Given the description of an element on the screen output the (x, y) to click on. 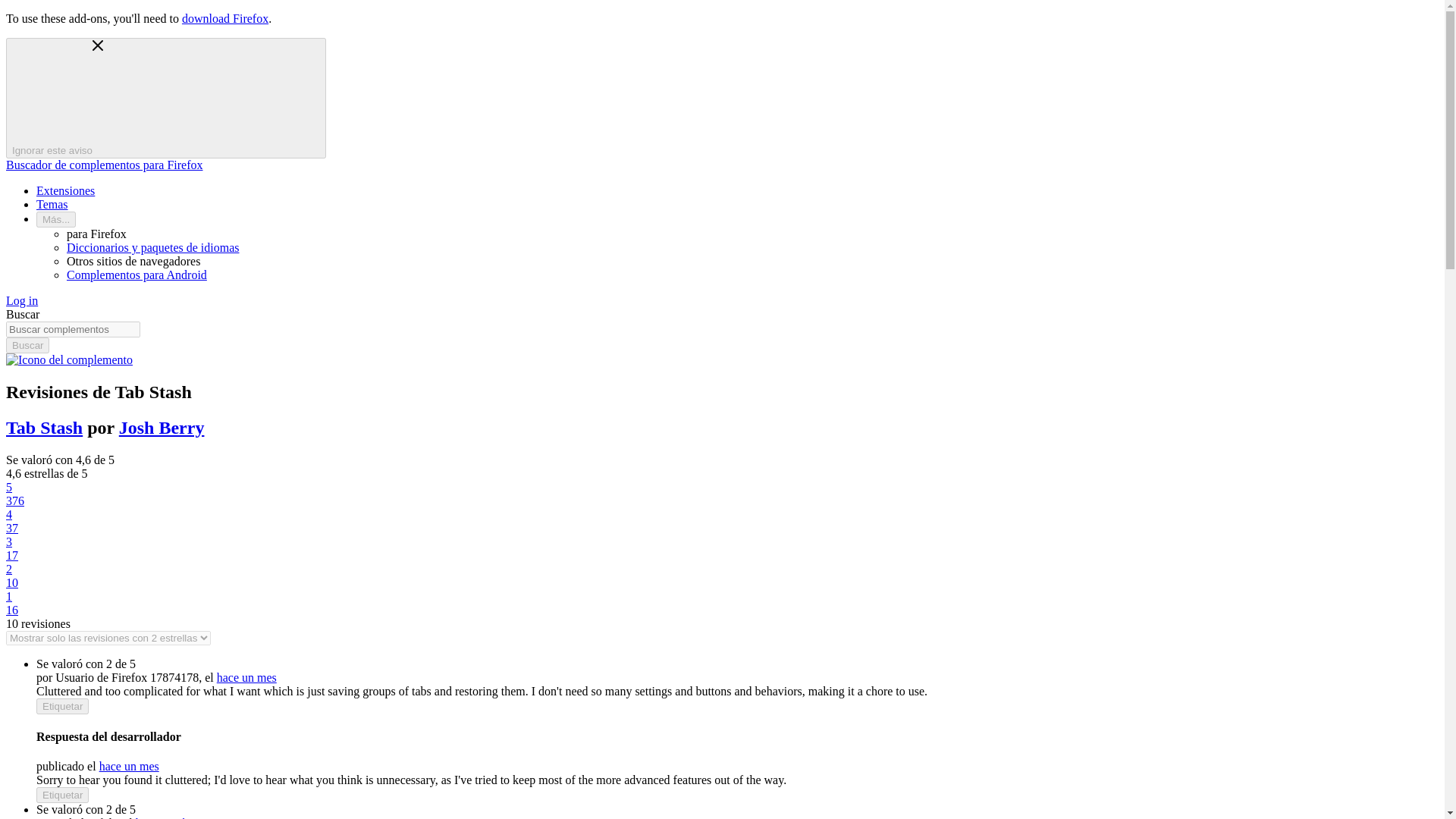
hace un mes (246, 676)
Etiquetar (62, 795)
Temas (52, 204)
5 de jul. de 2024 22:04 (246, 676)
Ignorar este aviso (165, 97)
Extensiones (65, 190)
Josh Berry (162, 427)
download Firefox (224, 18)
Complementos para Android (136, 274)
Buscador de complementos para Firefox (103, 164)
